Given the description of an element on the screen output the (x, y) to click on. 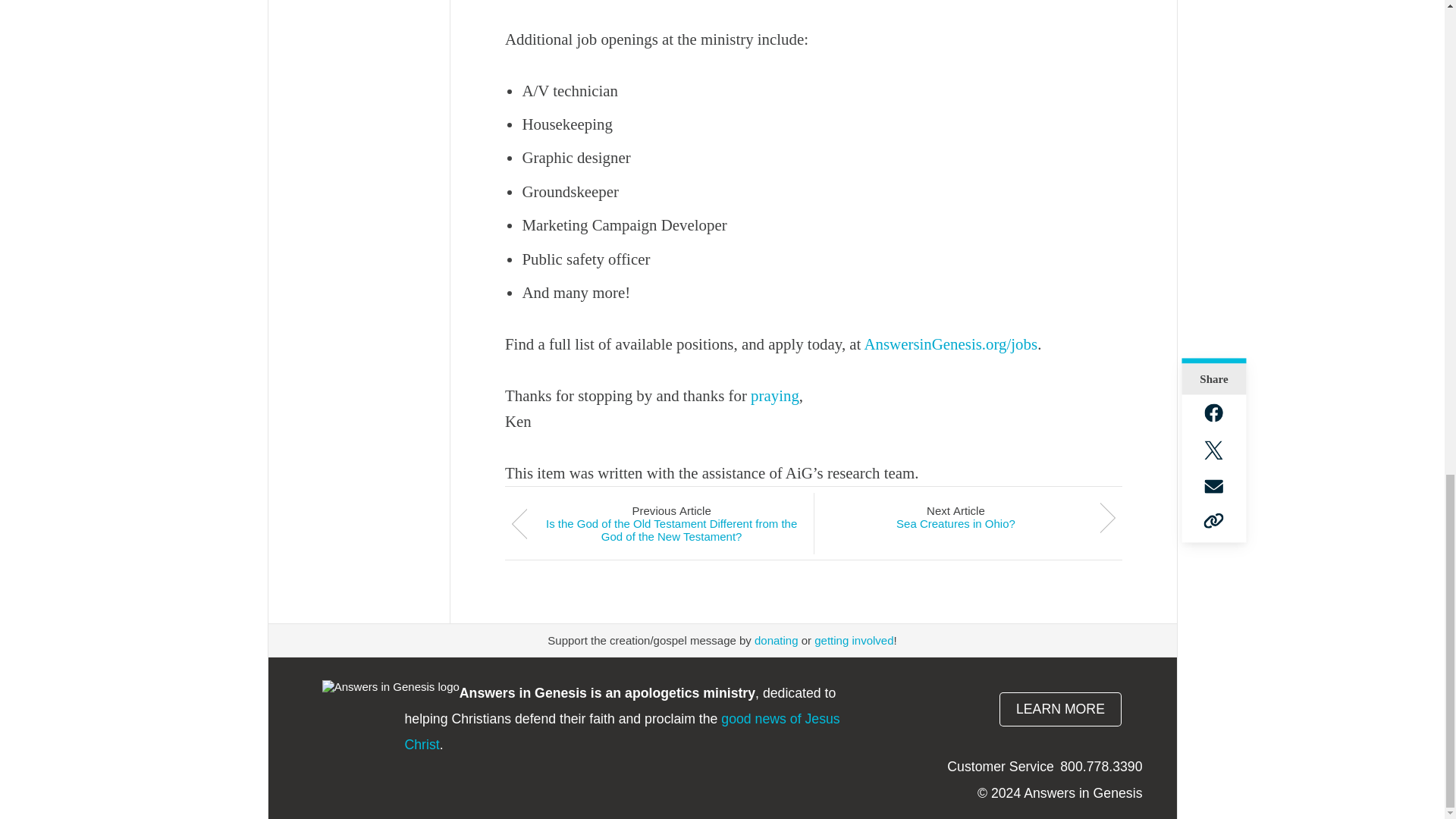
praying (775, 395)
